Given the description of an element on the screen output the (x, y) to click on. 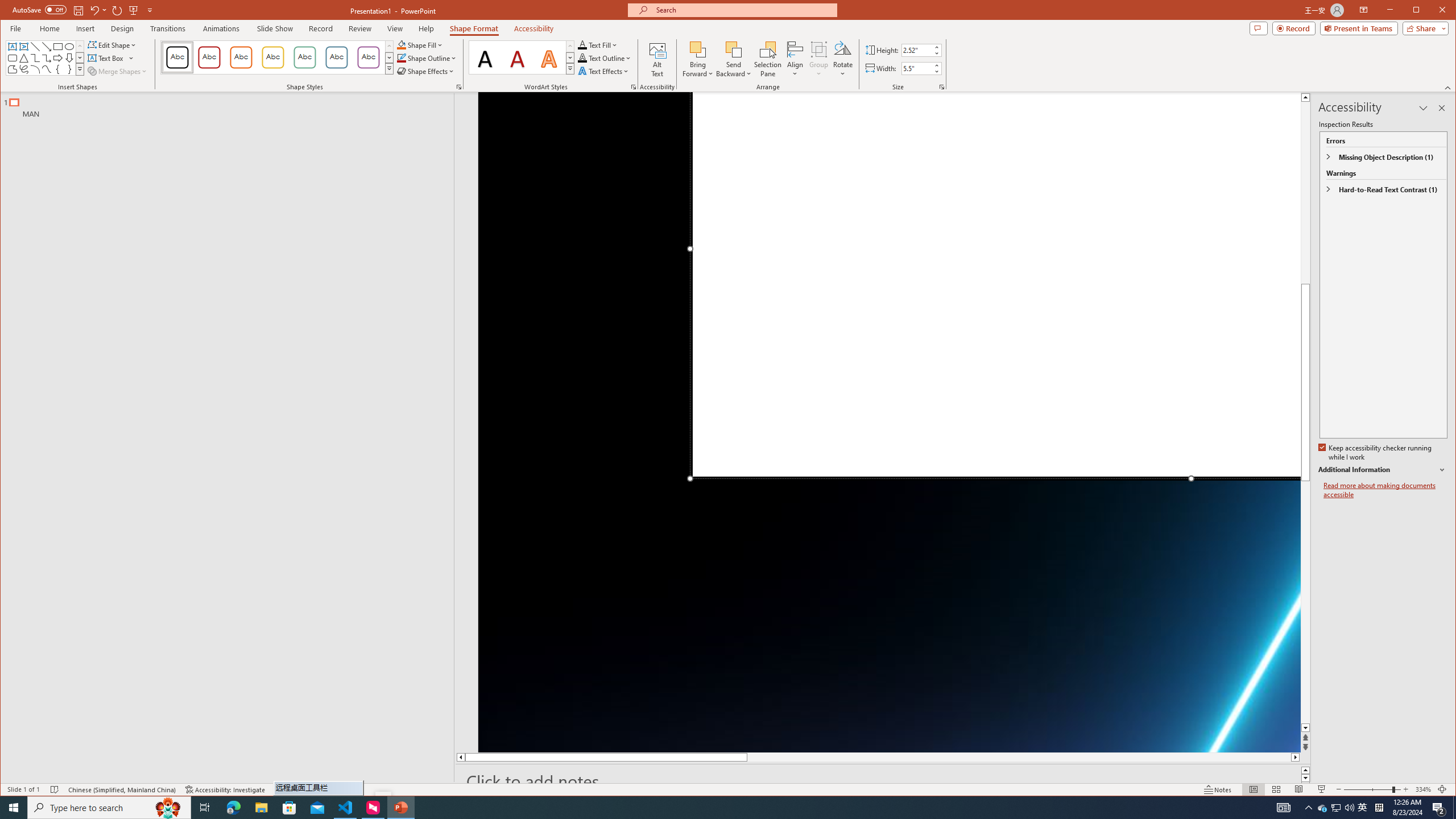
Shape Outline Blue, Accent 1 (400, 57)
Colored Outline - Dark Red, Accent 1 (209, 57)
Title TextBox (995, 284)
Merge Shapes (118, 70)
